Given the description of an element on the screen output the (x, y) to click on. 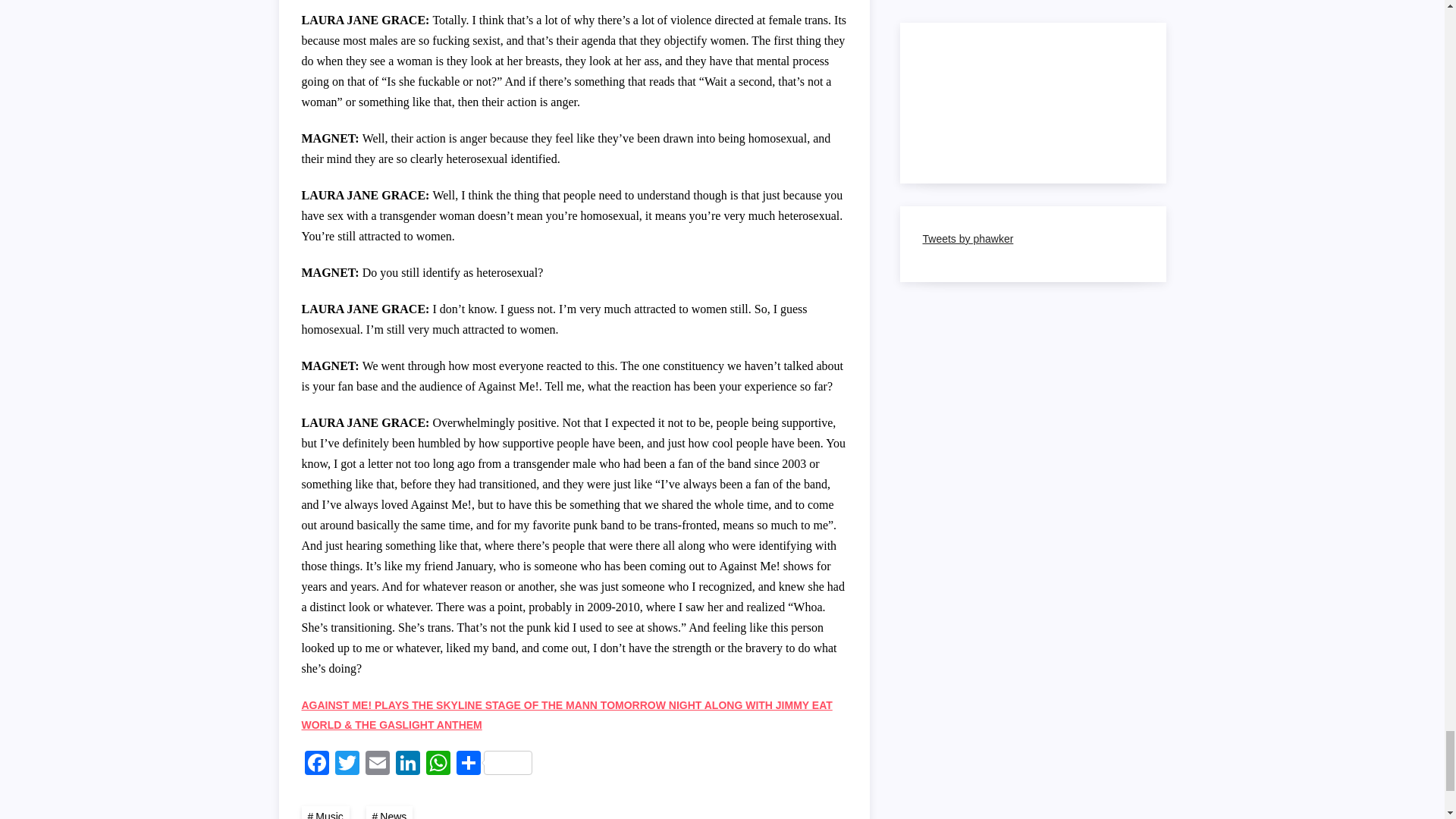
Twitter (346, 764)
Email (377, 764)
Share (493, 764)
Facebook (316, 764)
Twitter (346, 764)
News (389, 812)
Email (377, 764)
LinkedIn (408, 764)
WhatsApp (437, 764)
WhatsApp (437, 764)
Music (325, 812)
LinkedIn (408, 764)
Facebook (316, 764)
